Given the description of an element on the screen output the (x, y) to click on. 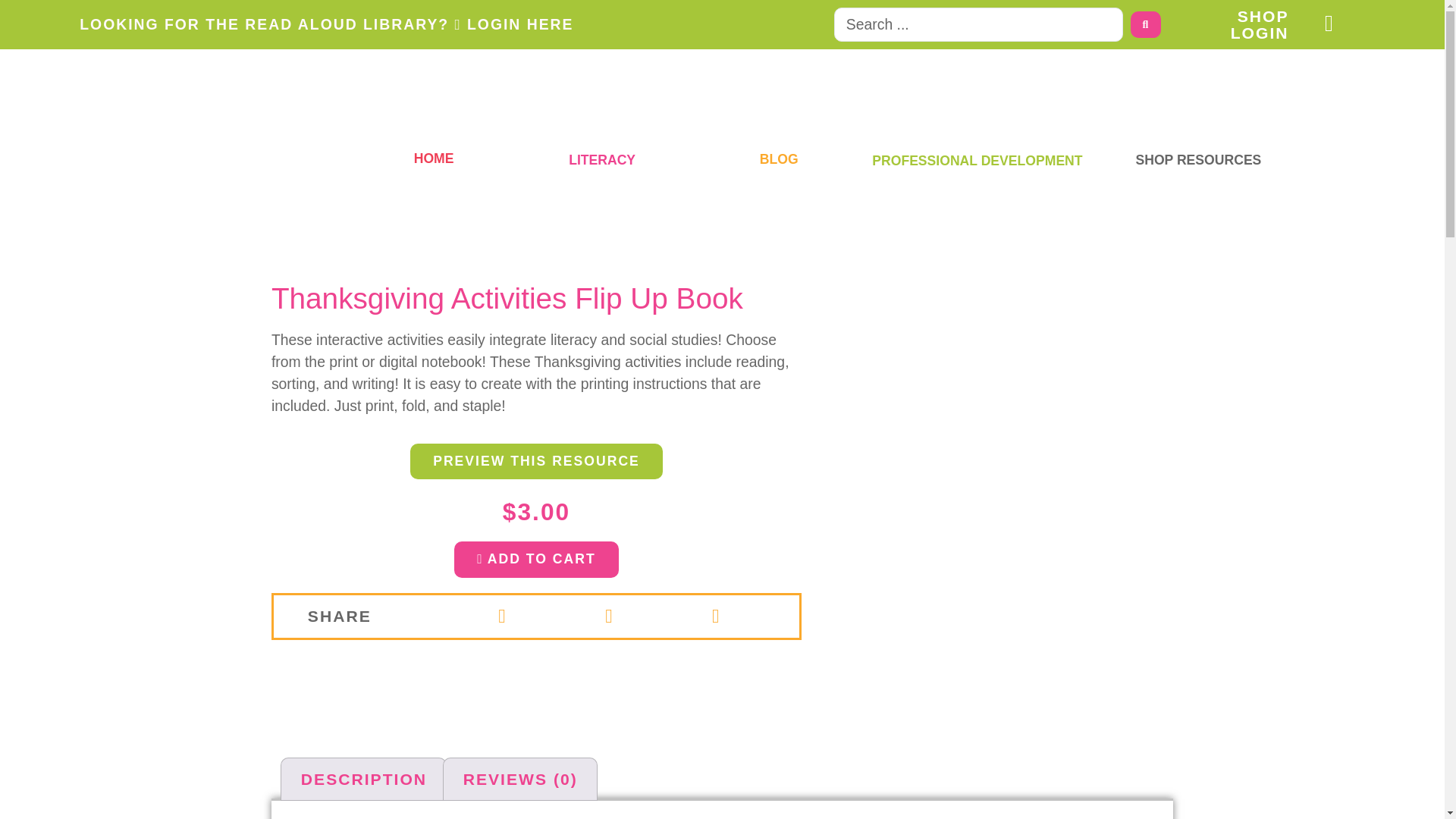
PREVIEW THIS RESOURCE (536, 461)
SHOP RESOURCES (1197, 159)
HOME (433, 158)
BLOG (778, 159)
SHOP LOGIN (1259, 23)
